Given the description of an element on the screen output the (x, y) to click on. 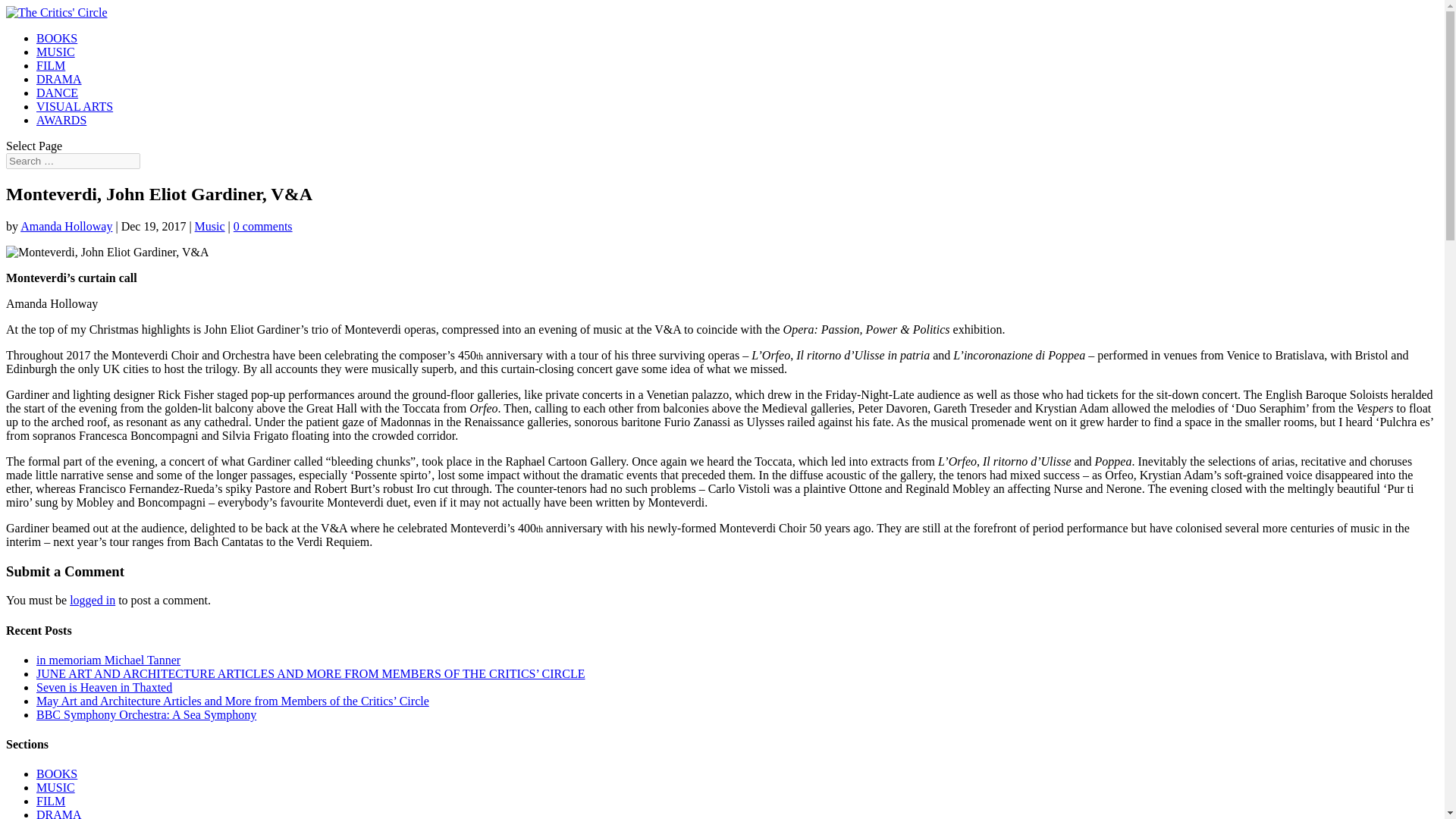
0 comments (262, 226)
FILM (50, 800)
AWARDS (60, 119)
BOOKS (56, 38)
Music (210, 226)
DANCE (57, 92)
DRAMA (58, 813)
Amanda Holloway (66, 226)
Search for: (72, 160)
Seven is Heaven in Thaxted (103, 686)
Posts by Amanda Holloway (66, 226)
MUSIC (55, 787)
logged in (92, 599)
VISUAL ARTS (74, 106)
DRAMA (58, 78)
